Given the description of an element on the screen output the (x, y) to click on. 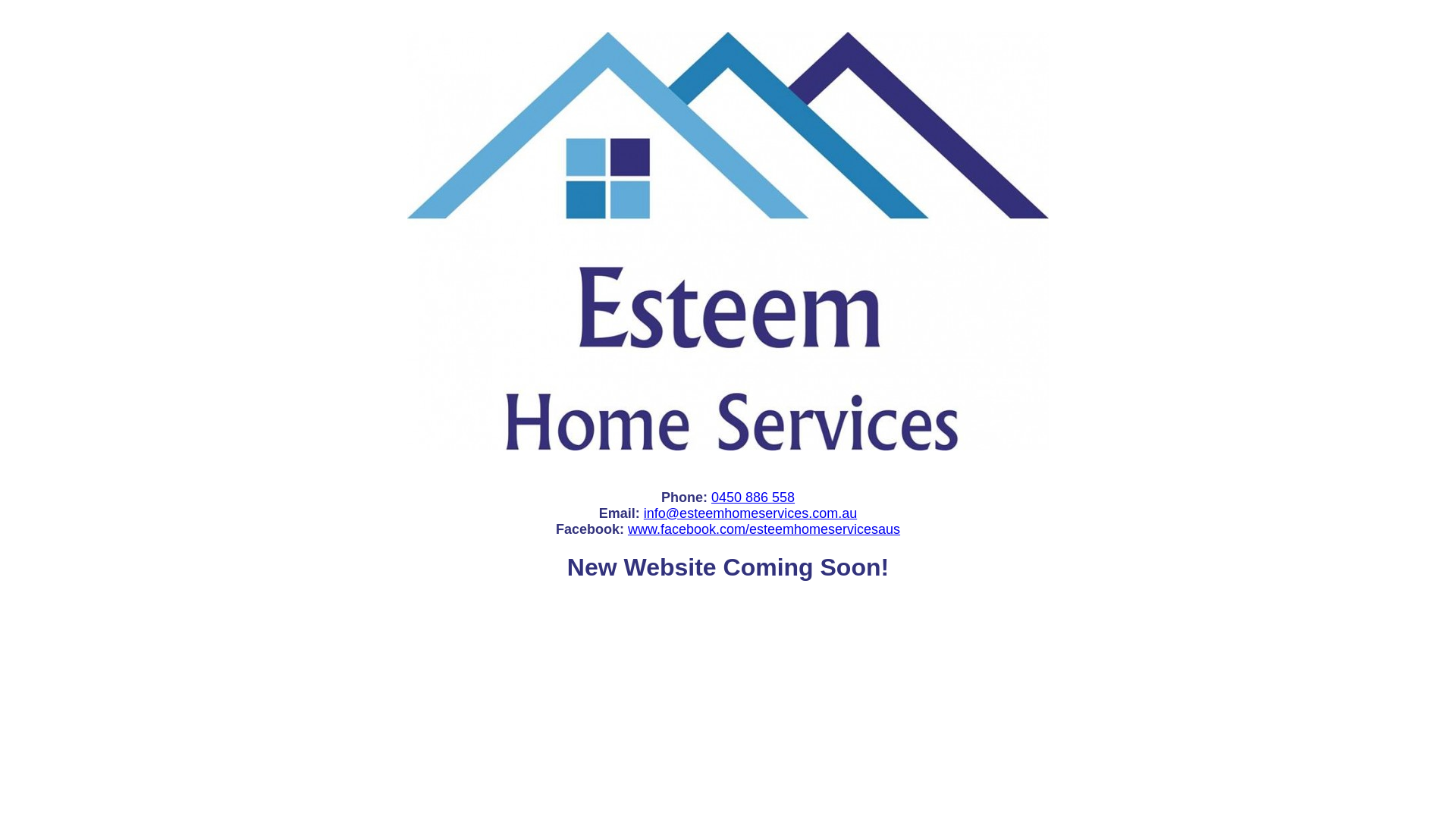
0450 886 558 Element type: text (752, 497)
www.facebook.com/esteemhomeservicesaus Element type: text (763, 528)
info@esteemhomeservices.com.au Element type: text (749, 512)
